Given the description of an element on the screen output the (x, y) to click on. 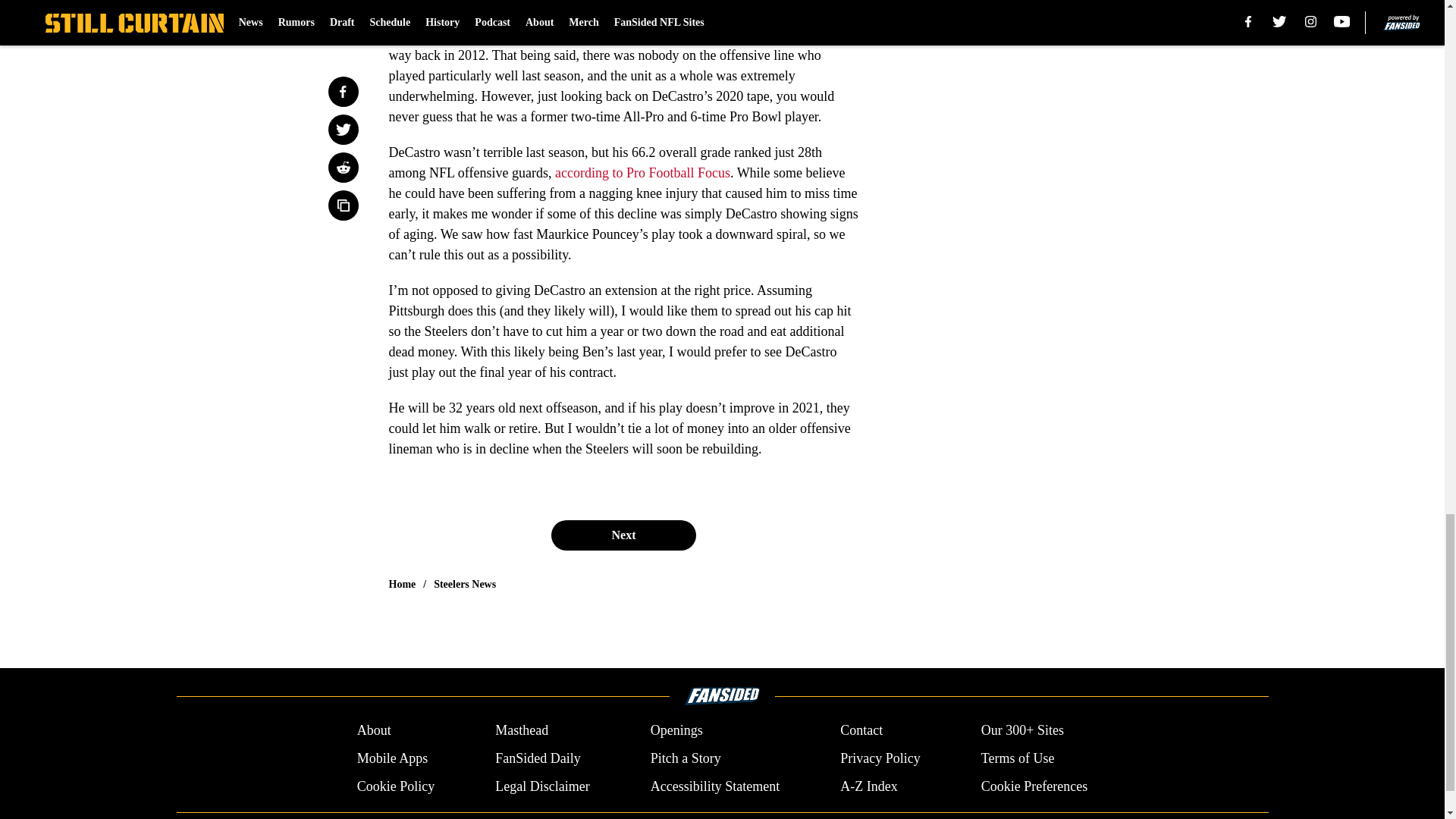
Next (622, 535)
Masthead (521, 730)
Contact (861, 730)
FanSided Daily (537, 758)
according to Pro Football Focus (642, 172)
Openings (676, 730)
Terms of Use (1017, 758)
Mobile Apps (392, 758)
Home (401, 584)
Privacy Policy (880, 758)
Pitch a Story (685, 758)
Steelers News (464, 584)
About (373, 730)
